Given the description of an element on the screen output the (x, y) to click on. 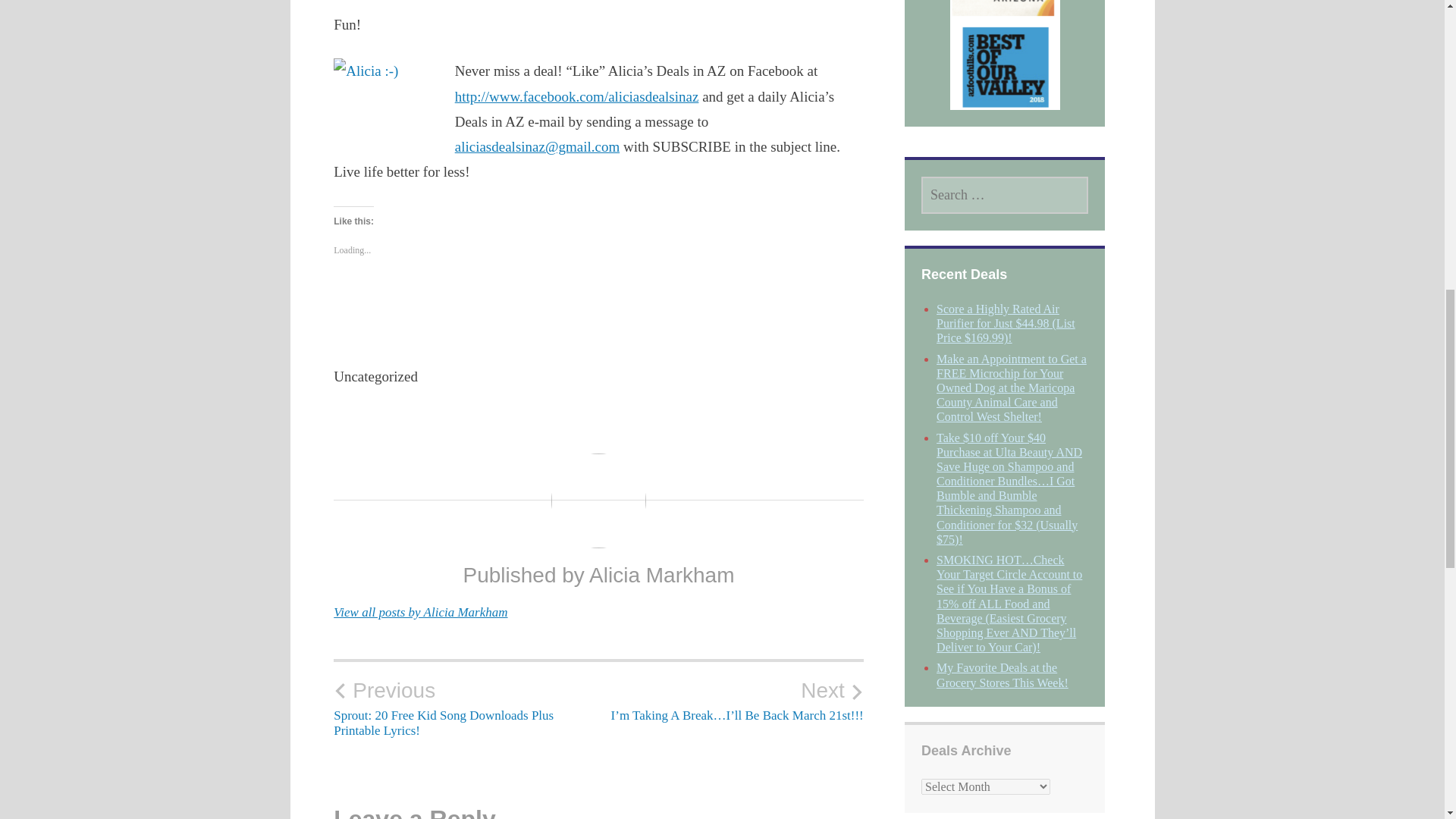
View all posts by Alicia Markham (419, 612)
My Favorite Deals at the Grocery Stores This Week! (1002, 674)
signature (382, 90)
